Given the description of an element on the screen output the (x, y) to click on. 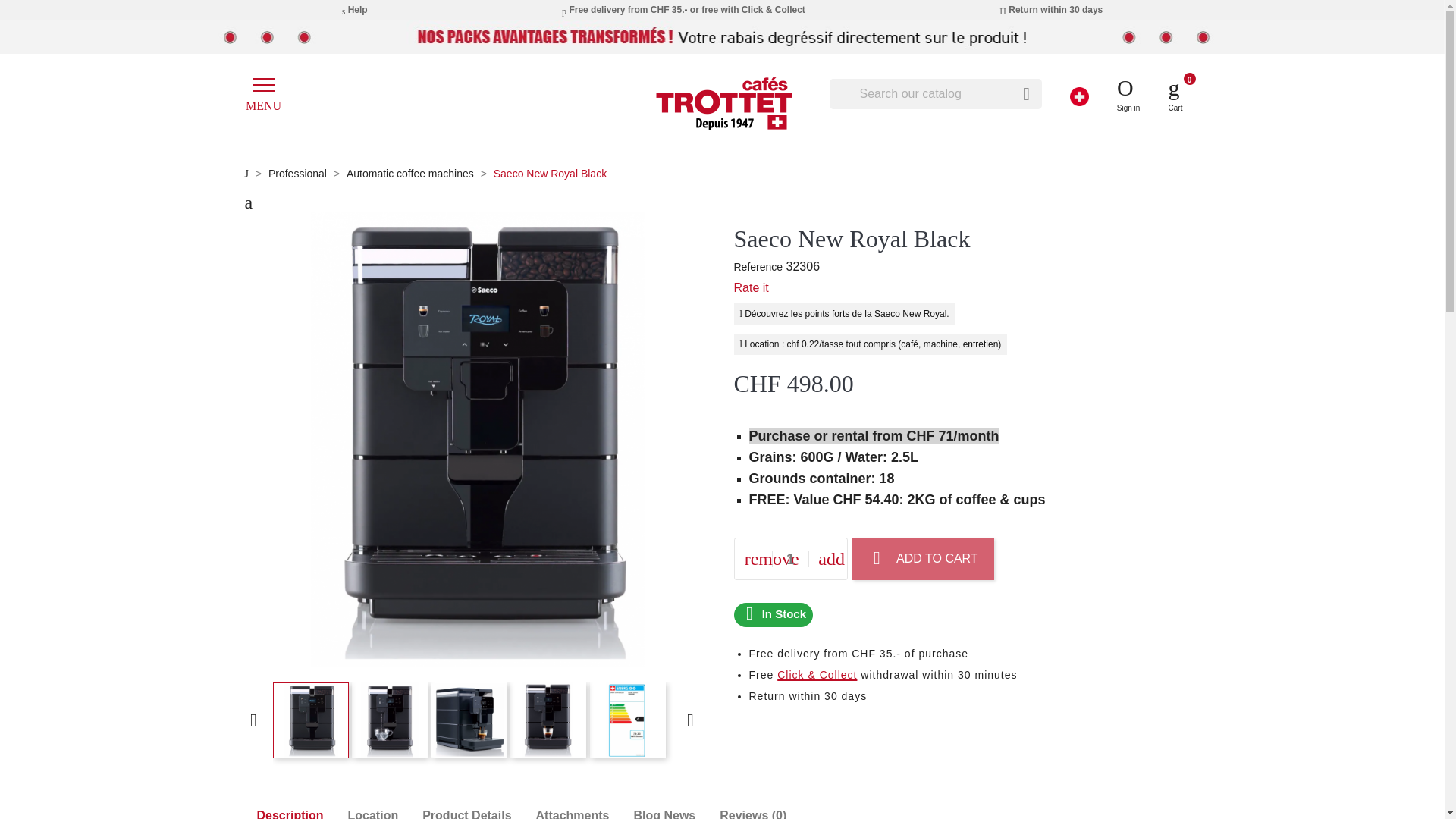
1 (790, 559)
Help (355, 9)
MENU (297, 94)
Return within 30 days (1050, 9)
